Given the description of an element on the screen output the (x, y) to click on. 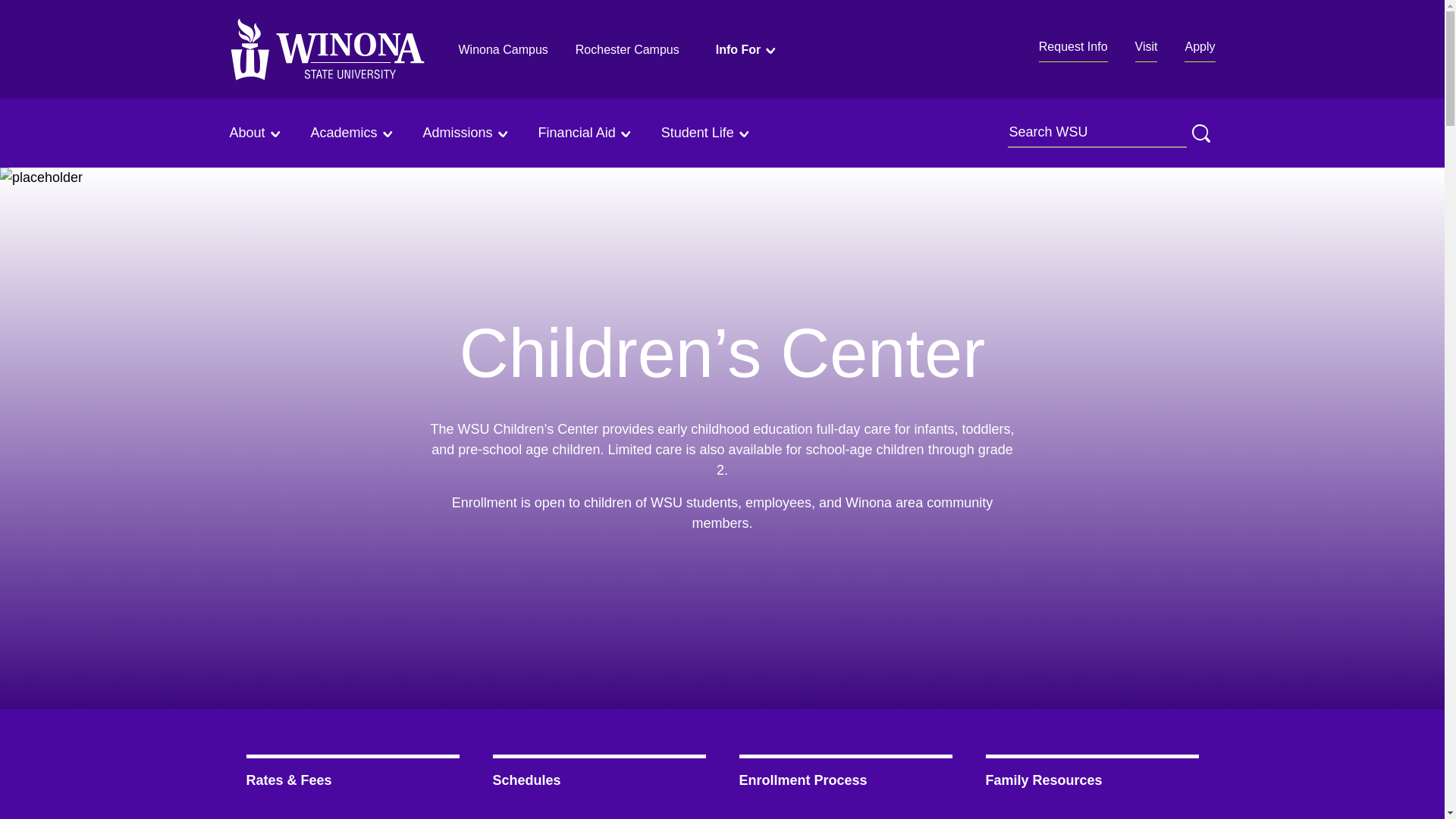
Admissions (467, 132)
Winona State University (326, 49)
Apply (1199, 49)
Request Info (1073, 49)
Rochester Campus (627, 48)
Visit (1146, 49)
Academics (353, 132)
About (255, 132)
Info For (747, 49)
Winona Campus (502, 48)
